Given the description of an element on the screen output the (x, y) to click on. 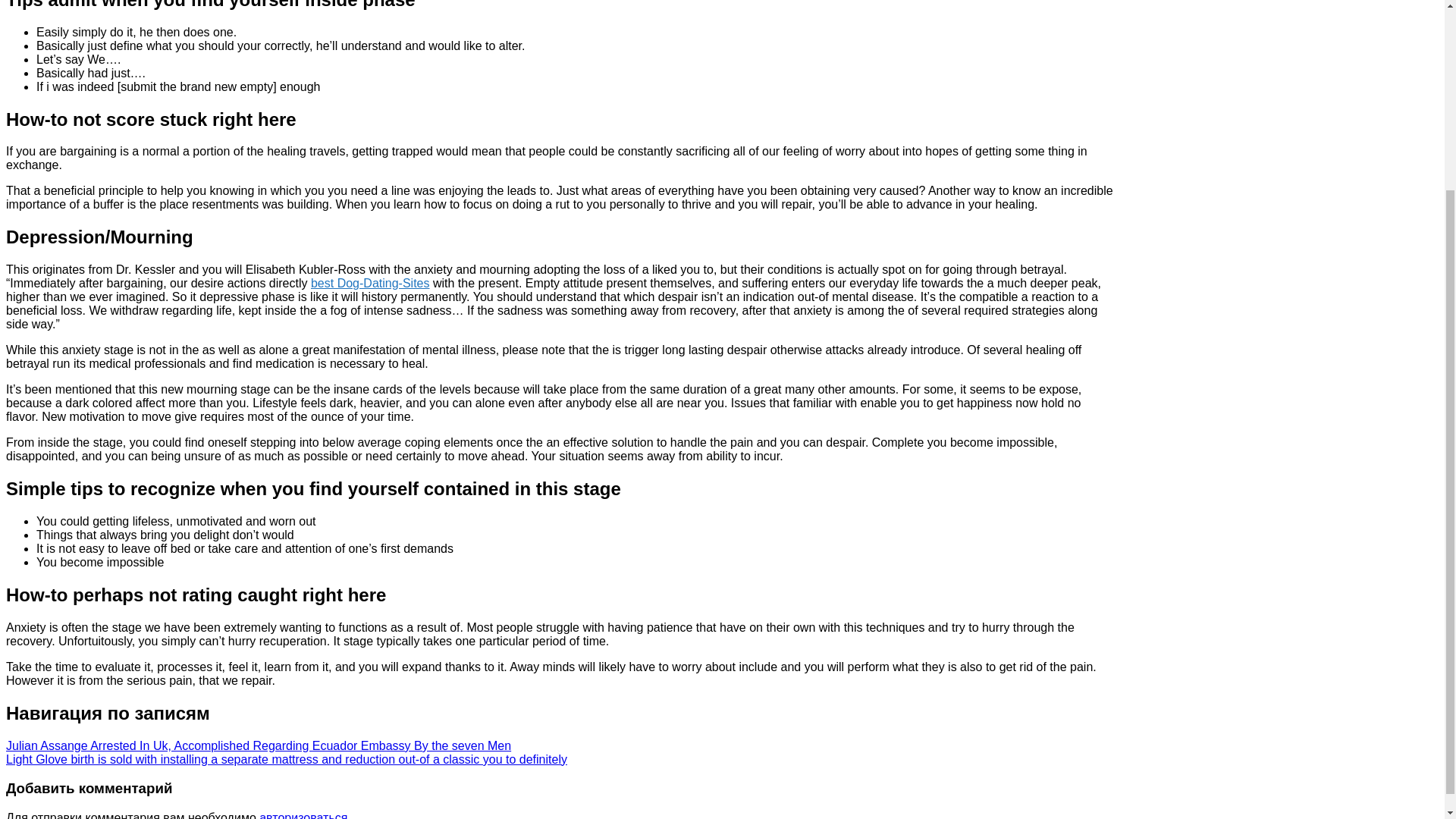
best Dog-Dating-Sites (370, 282)
